Given the description of an element on the screen output the (x, y) to click on. 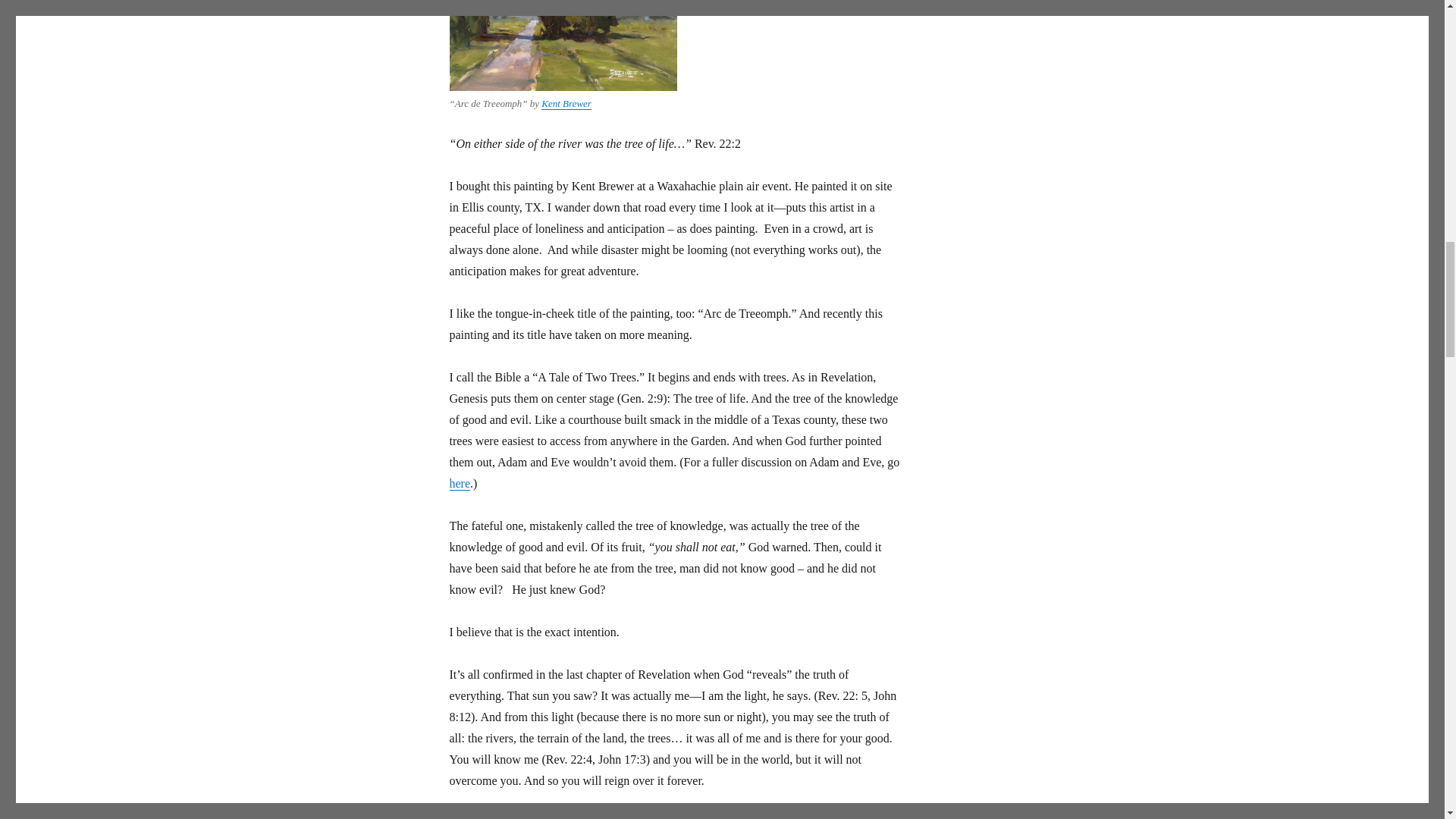
here (459, 482)
Kent Brewer (566, 102)
